Given the description of an element on the screen output the (x, y) to click on. 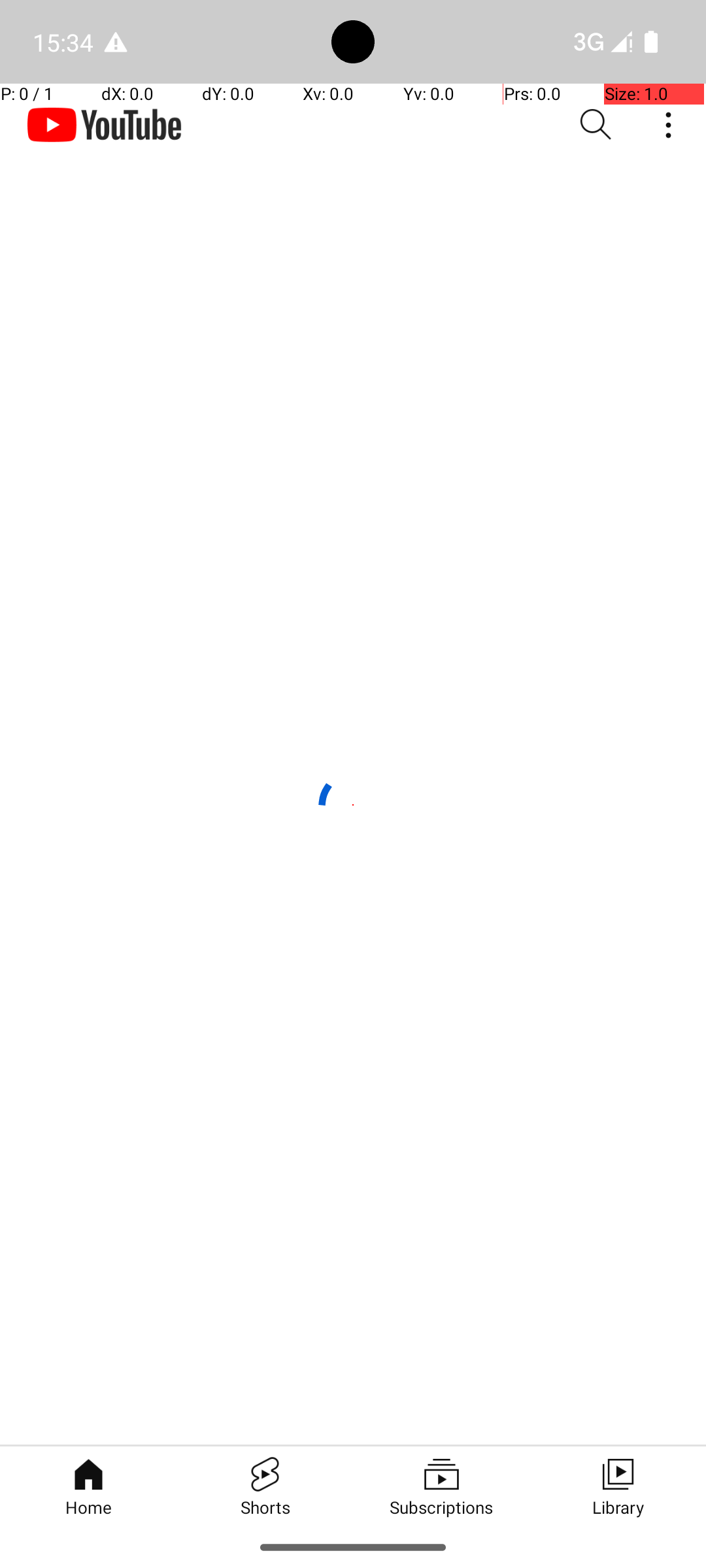
Shorts Element type: android.widget.Button (264, 1485)
Subscriptions Element type: android.widget.Button (441, 1485)
Library Element type: android.widget.Button (617, 1485)
